Given the description of an element on the screen output the (x, y) to click on. 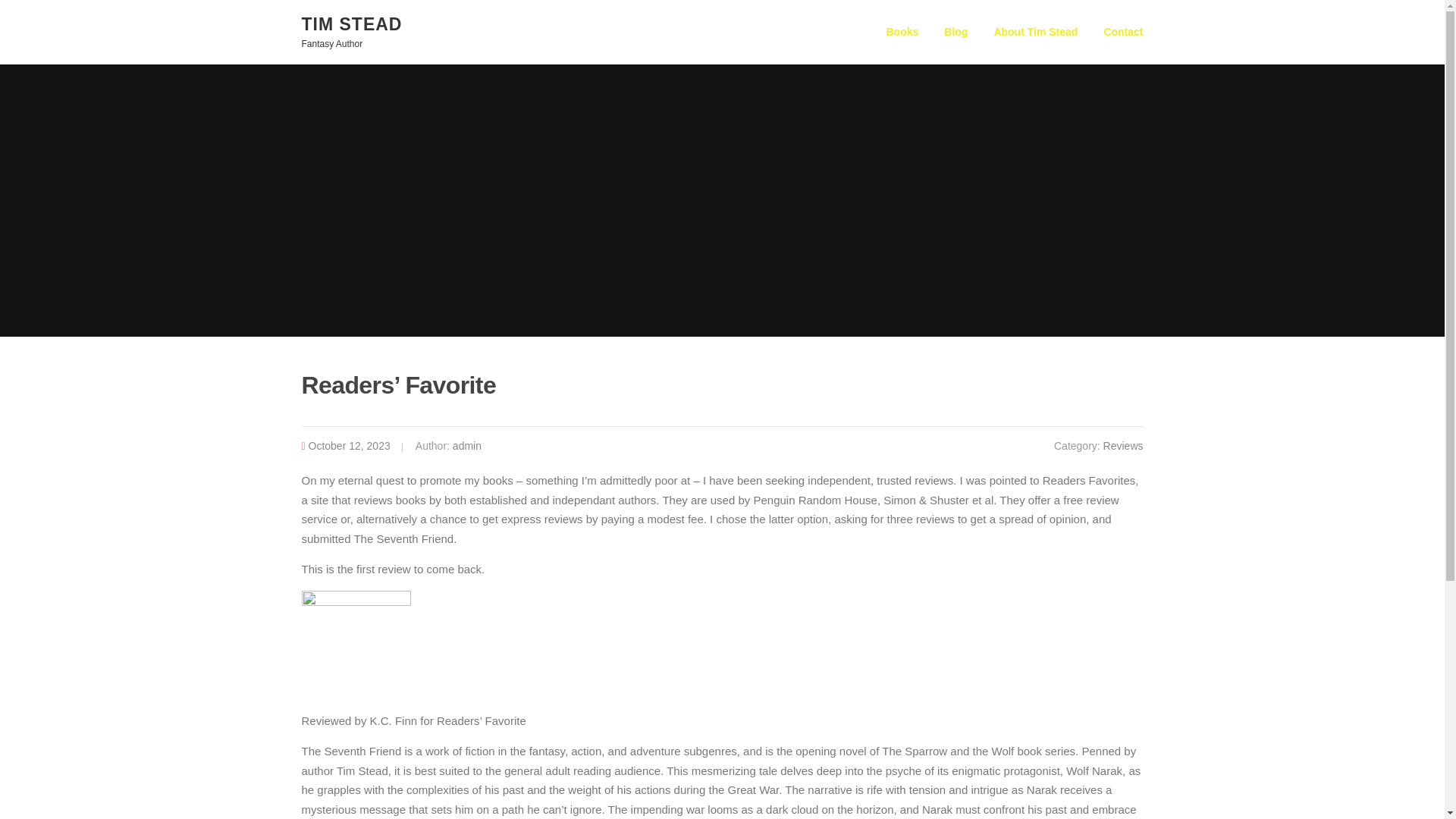
About Tim Stead (1034, 32)
admin (466, 445)
October 12, 2023 (349, 445)
Books (902, 32)
TIM STEAD (352, 23)
Reviews (1122, 445)
